Given the description of an element on the screen output the (x, y) to click on. 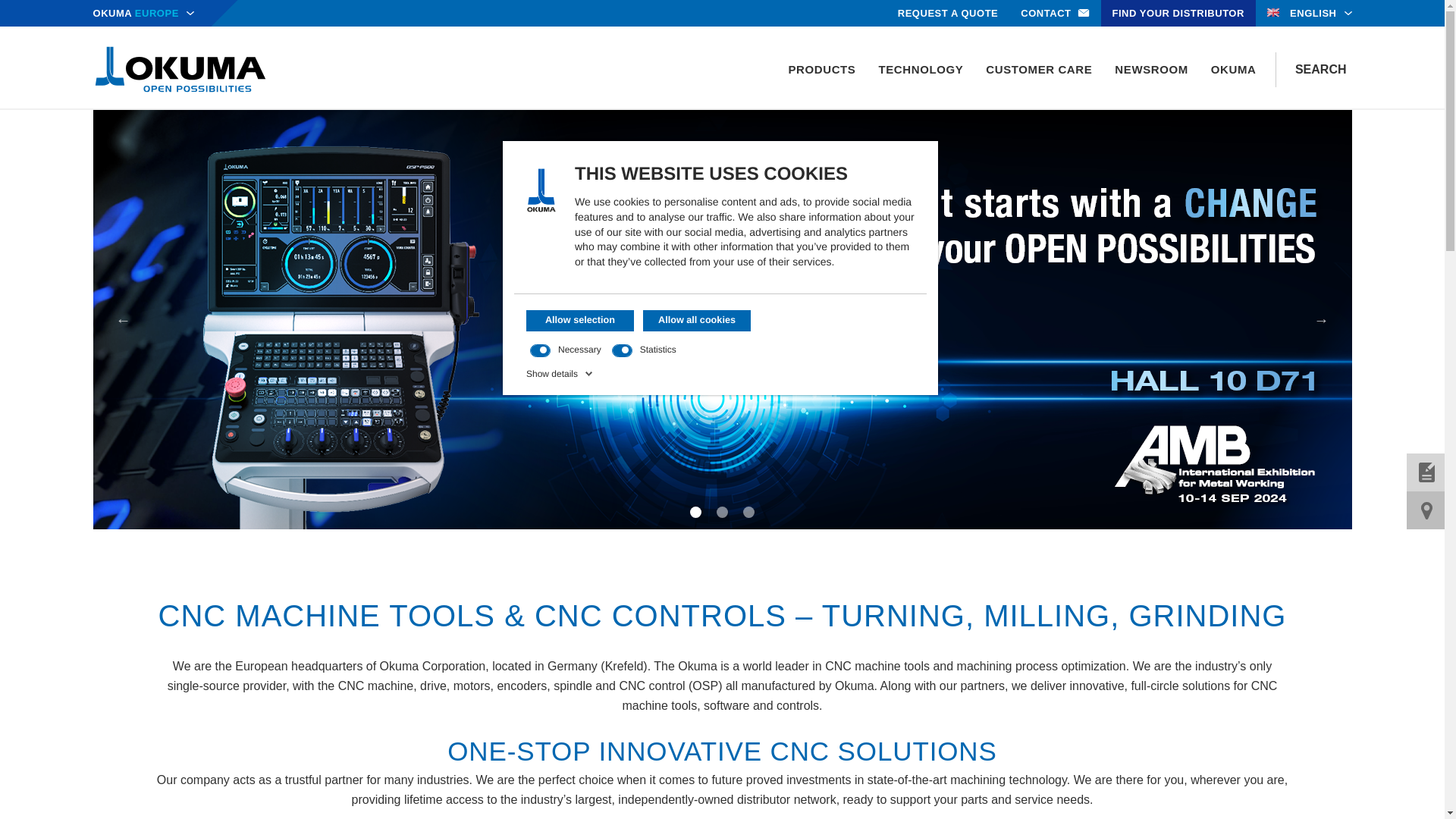
Allow all cookies (697, 320)
Allow selection (579, 320)
on (621, 350)
Show details (558, 373)
on (539, 350)
